Given the description of an element on the screen output the (x, y) to click on. 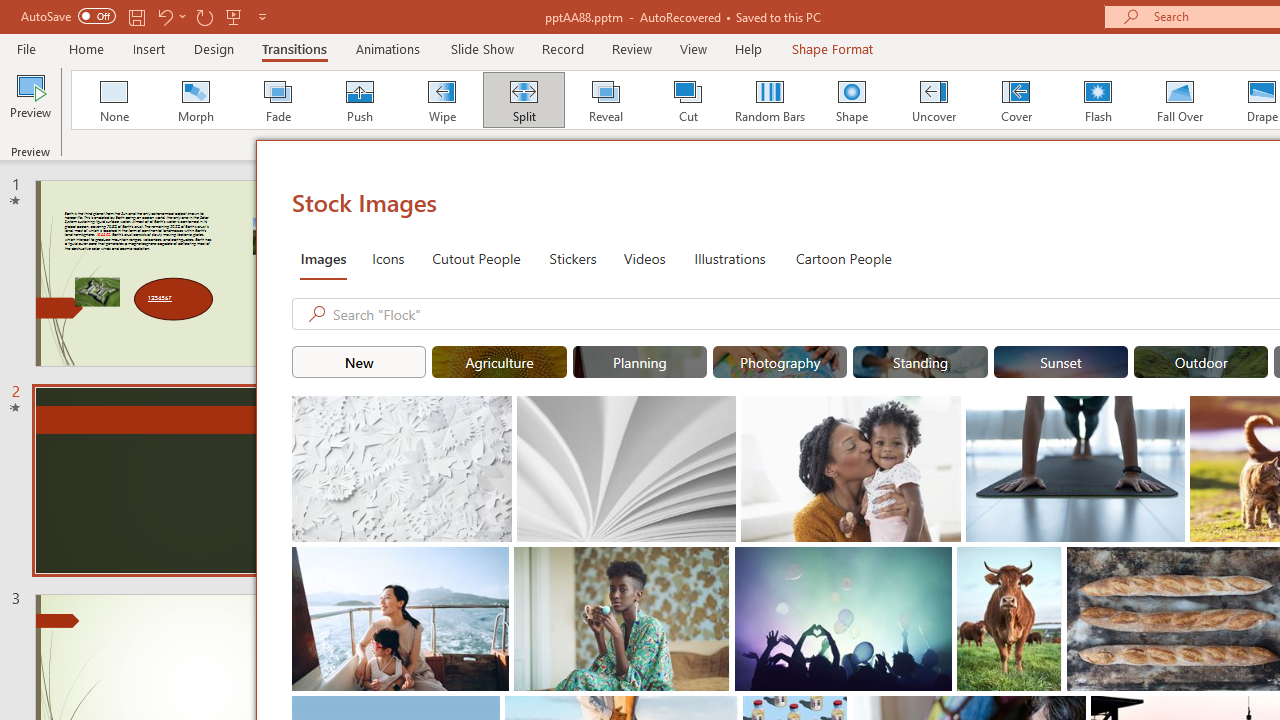
Record (562, 48)
"New" Stock Images. (358, 362)
